Given the description of an element on the screen output the (x, y) to click on. 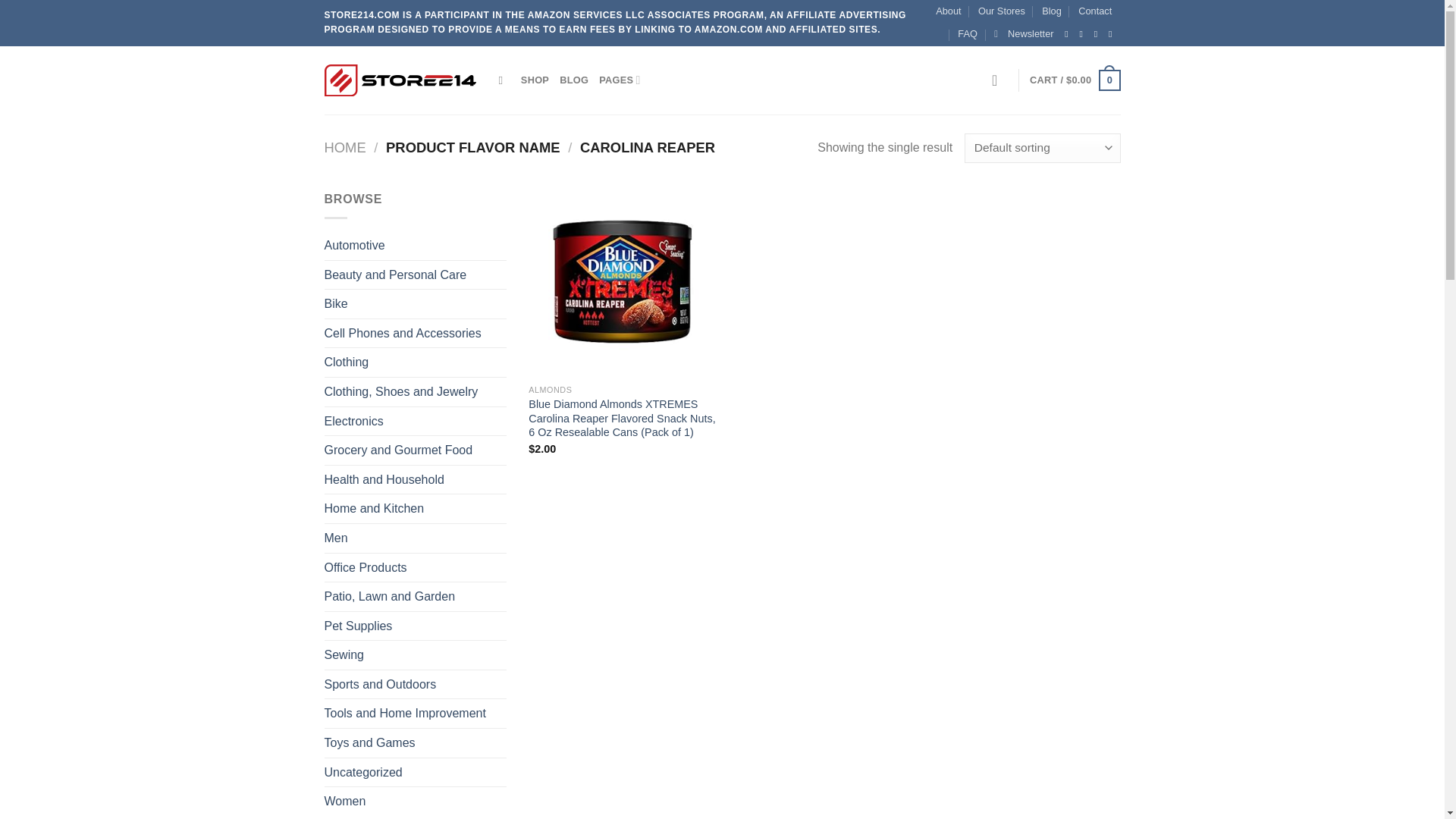
Store214 (400, 80)
About (948, 11)
Blog (1051, 11)
Follow on Instagram (1084, 33)
SHOP (534, 80)
Automotive (415, 245)
Contact (1095, 11)
Cart (1074, 79)
HOME (345, 147)
Follow on Facebook (1069, 33)
Sign up for Newsletter (1023, 33)
BLOG (573, 80)
Send us an email (1113, 33)
Our Stores (1001, 11)
